Given the description of an element on the screen output the (x, y) to click on. 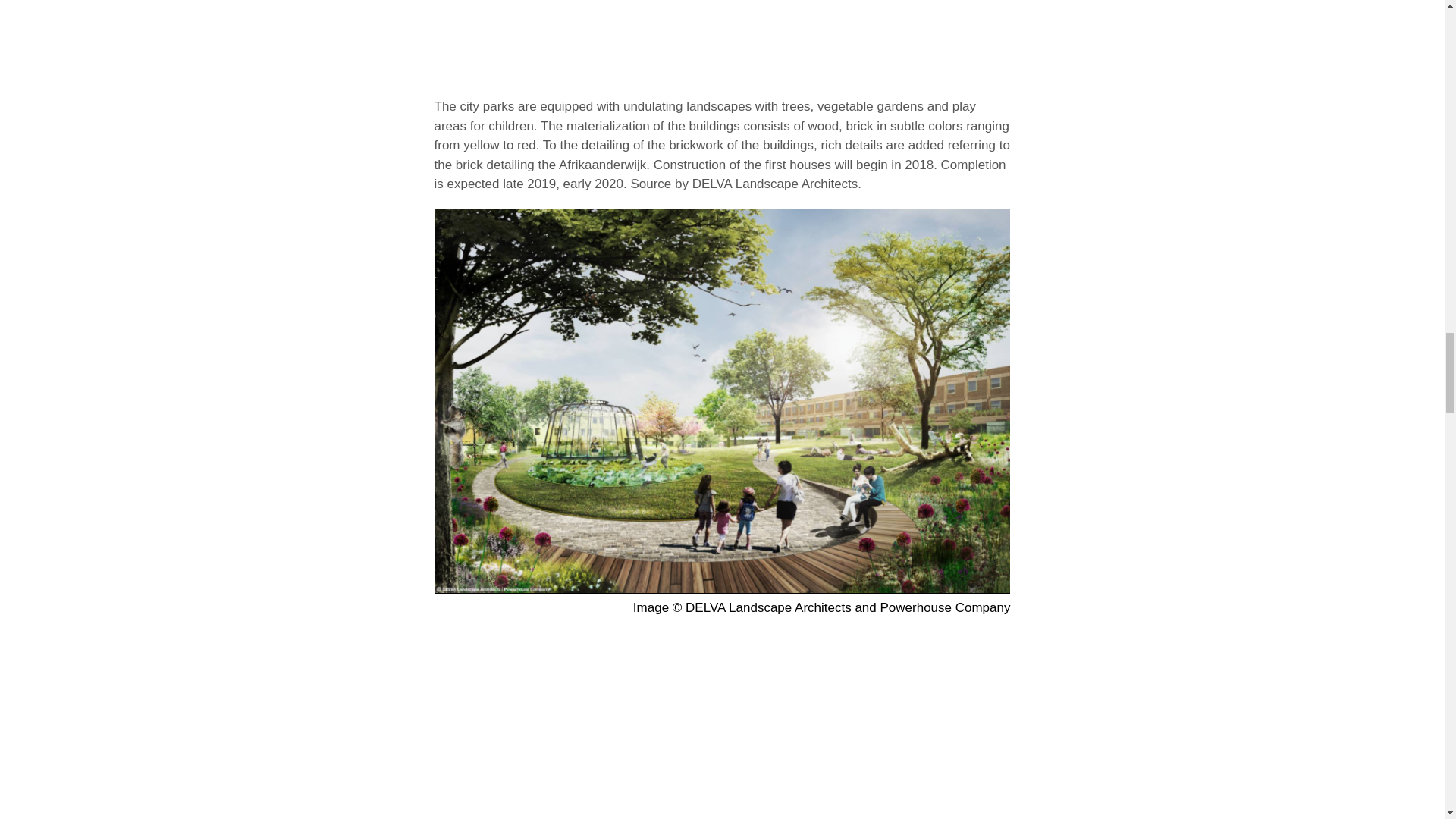
Advertisement (721, 44)
